Given the description of an element on the screen output the (x, y) to click on. 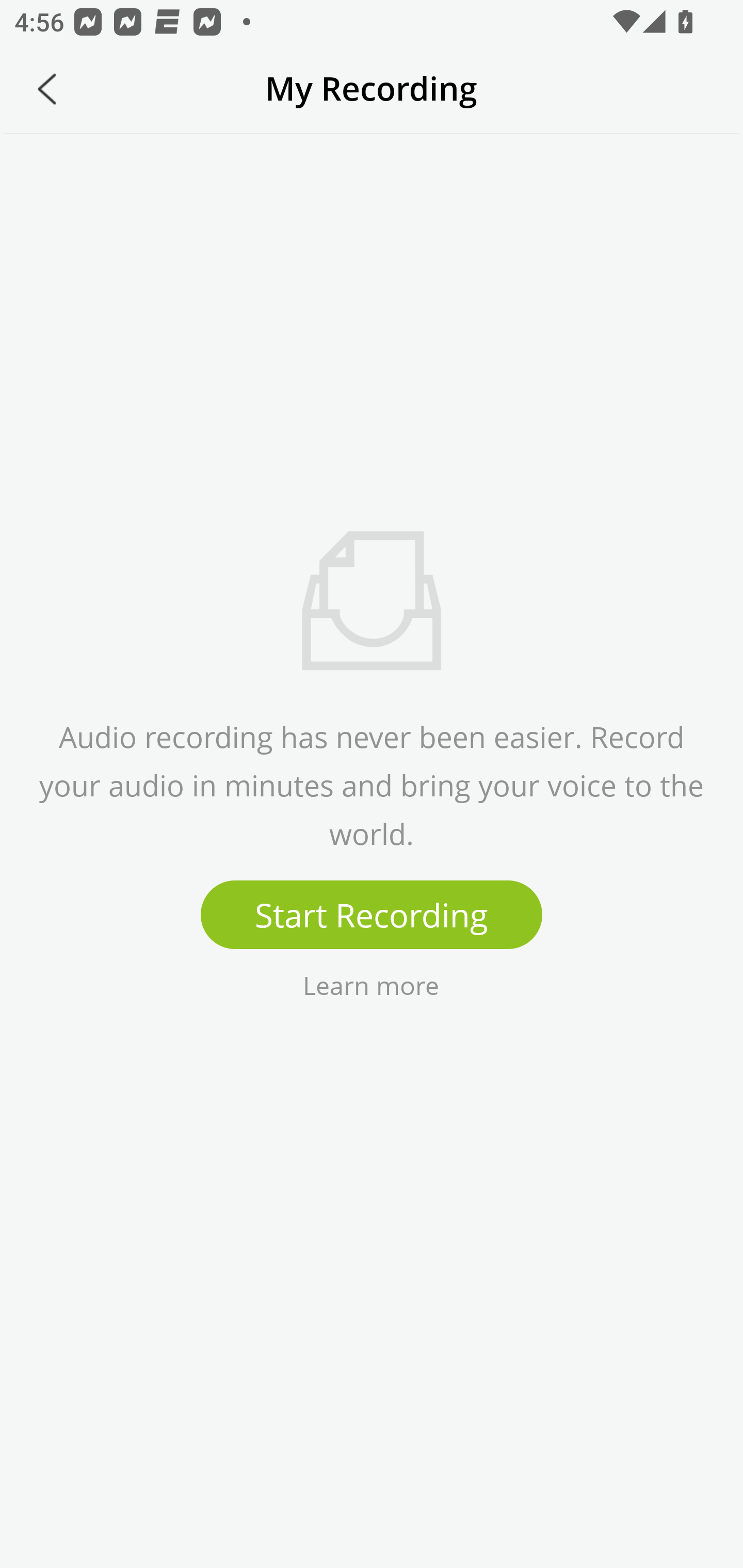
Back (46, 88)
Start Recording (371, 914)
Learn more (370, 984)
